Given the description of an element on the screen output the (x, y) to click on. 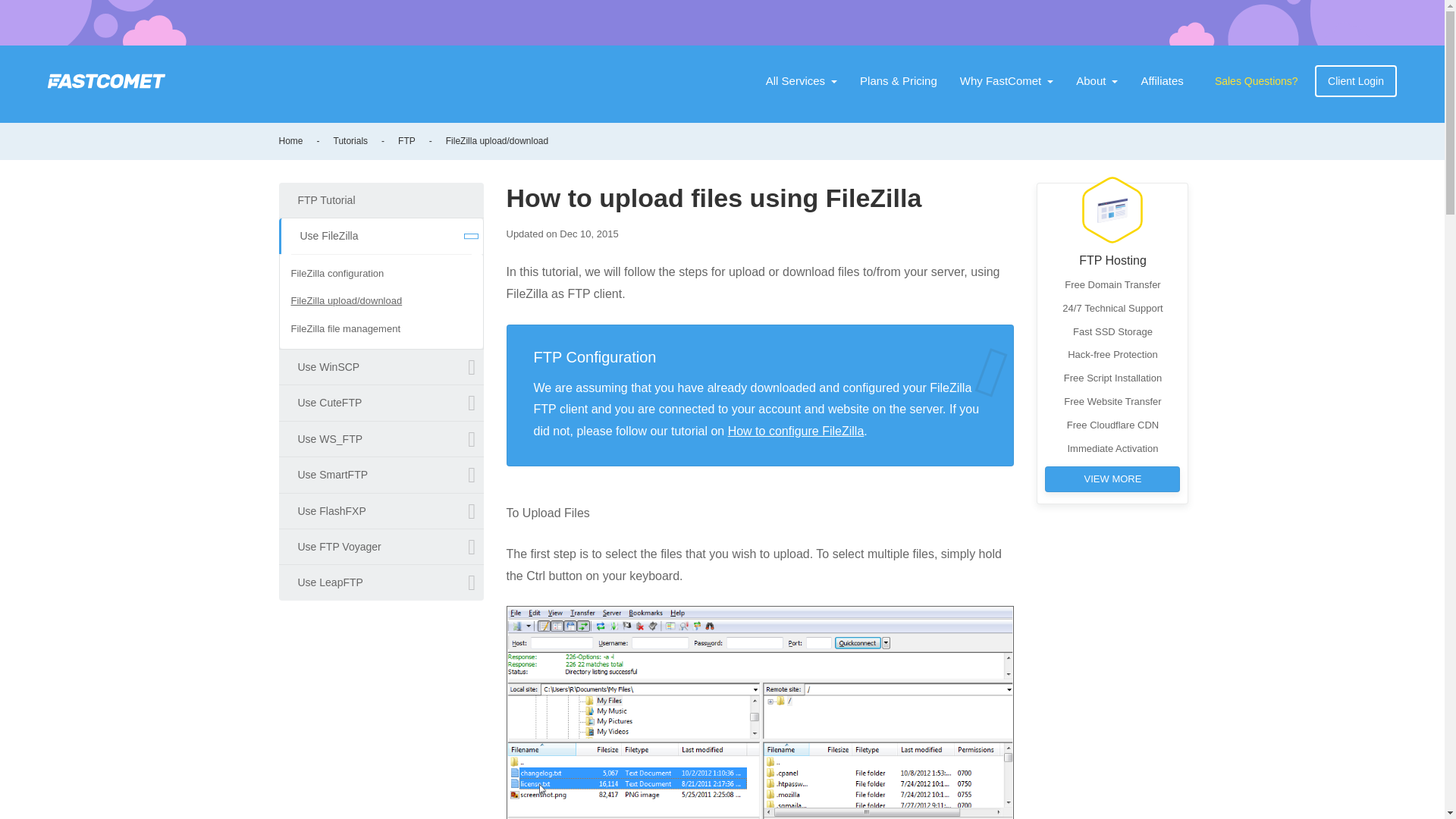
Affiliates (1161, 81)
All Services (801, 81)
Why FastComet (1007, 81)
fastcomet-logo-white (106, 81)
About (1096, 81)
fastcomet-logo-white (106, 80)
